Given the description of an element on the screen output the (x, y) to click on. 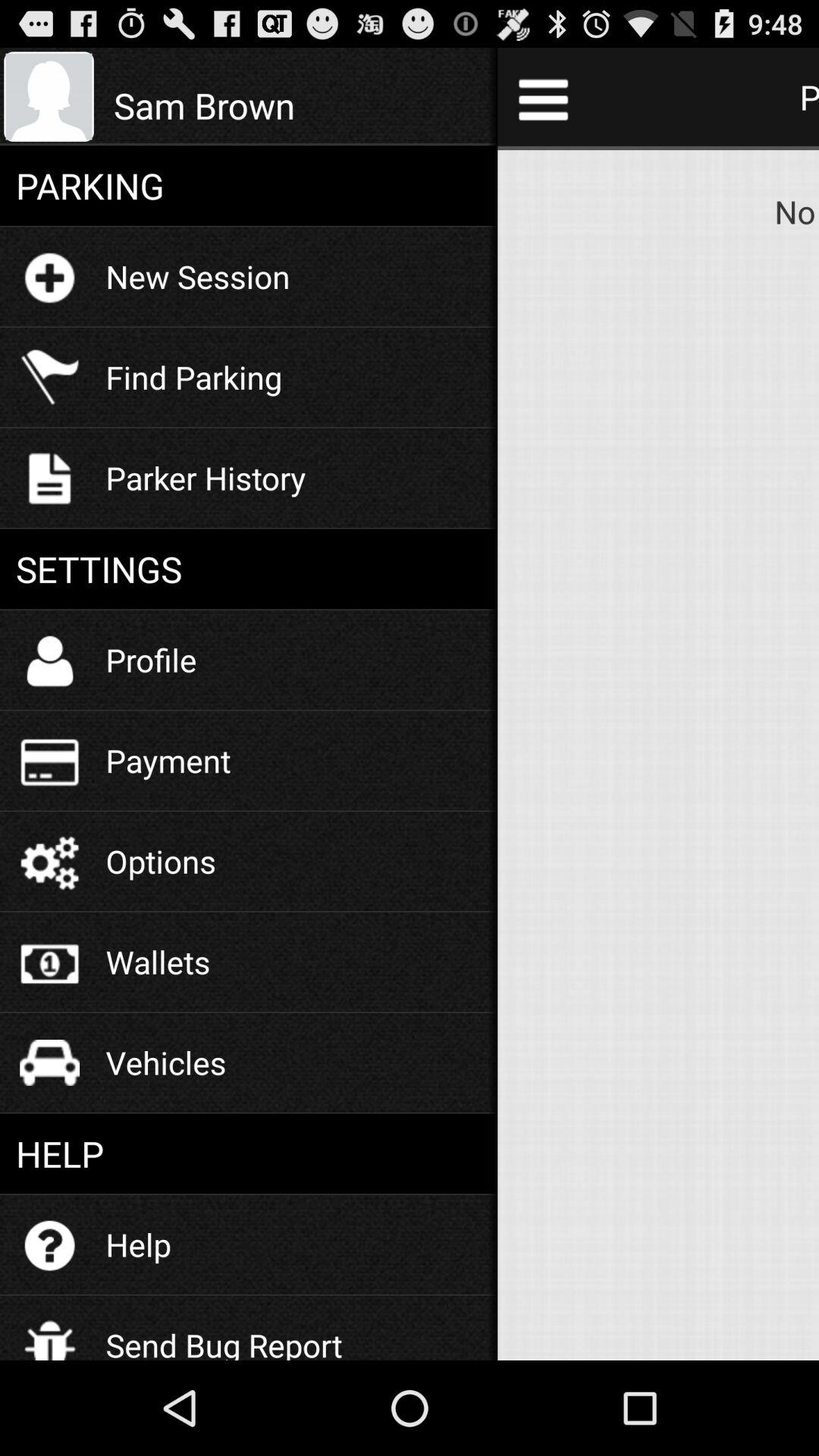
flip until the sam
brown item (297, 105)
